Given the description of an element on the screen output the (x, y) to click on. 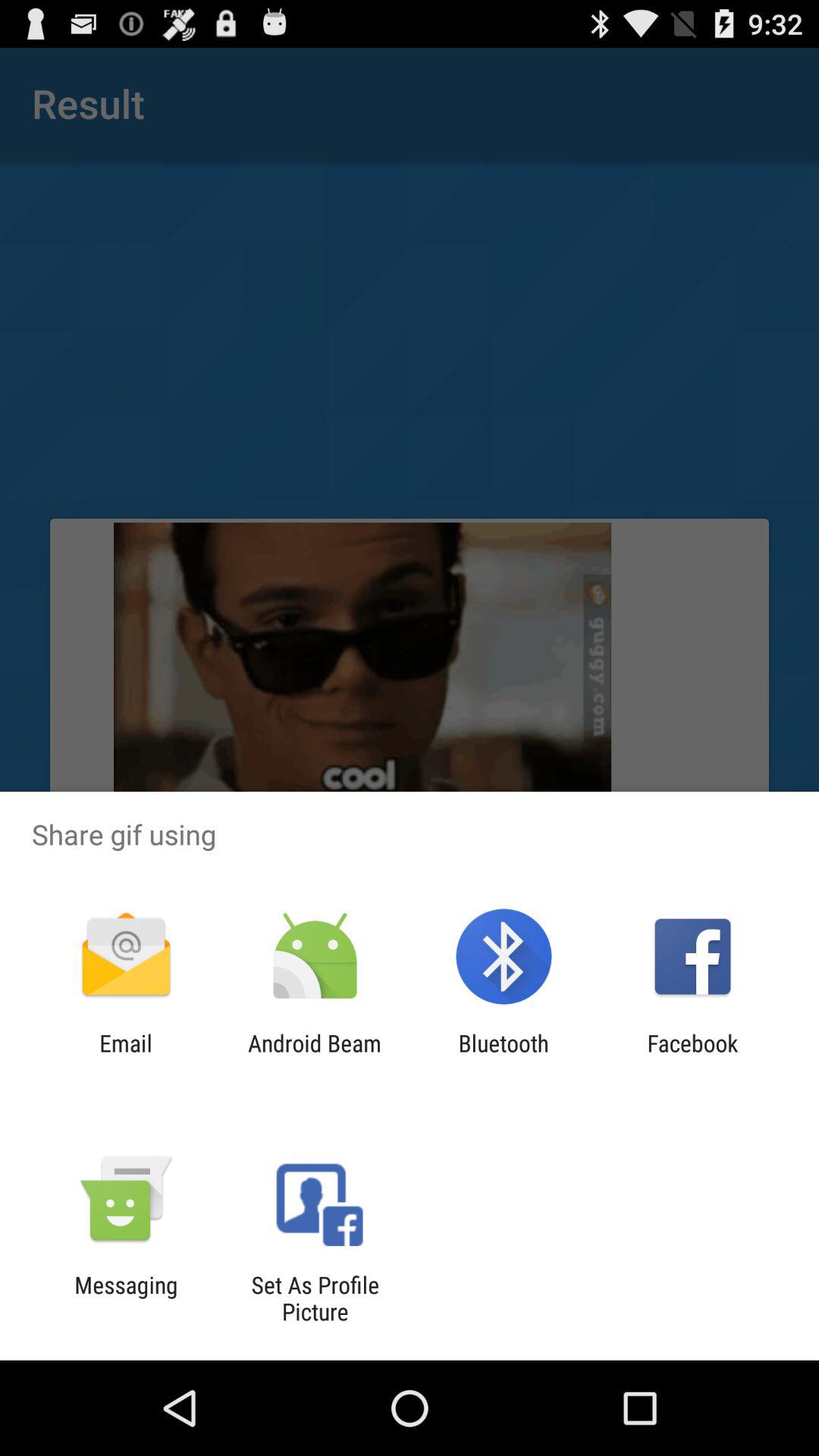
open the messaging item (126, 1298)
